Given the description of an element on the screen output the (x, y) to click on. 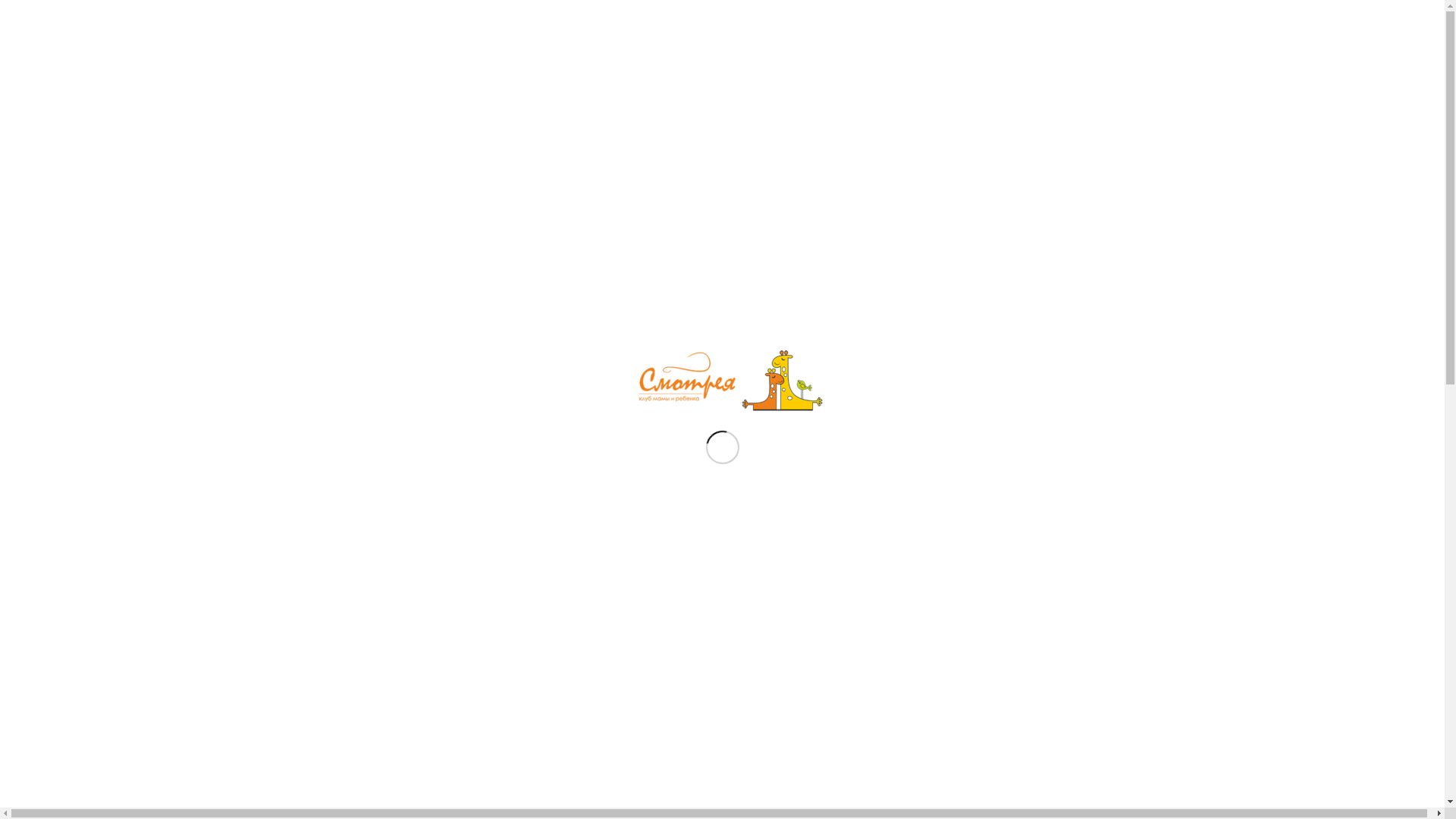
+375 29 699-78-77 Element type: text (386, 254)
+375 17 362-85-45   Element type: text (389, 286)
Loading Element type: hover (721, 379)
Pinterest Element type: text (1099, 17)
Instagram Element type: text (1052, 17)
Facebook Element type: text (1075, 17)
